Given the description of an element on the screen output the (x, y) to click on. 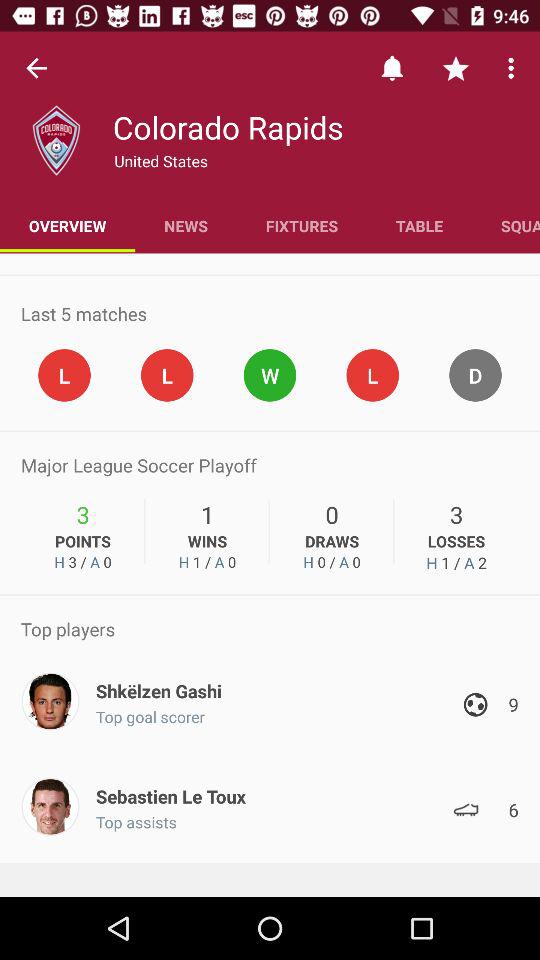
click on the green button of the page (269, 375)
select the circular shaped image on the right next to the green circular shaped image on the web page (371, 375)
click on the bell icon at top of the page (392, 68)
select the image on the bottom left corner of the web page (50, 806)
tap on the circle with letter d inside it shown above number 3 (475, 375)
the first circle with letter l inside it shown below last 5 matches (64, 375)
